Given the description of an element on the screen output the (x, y) to click on. 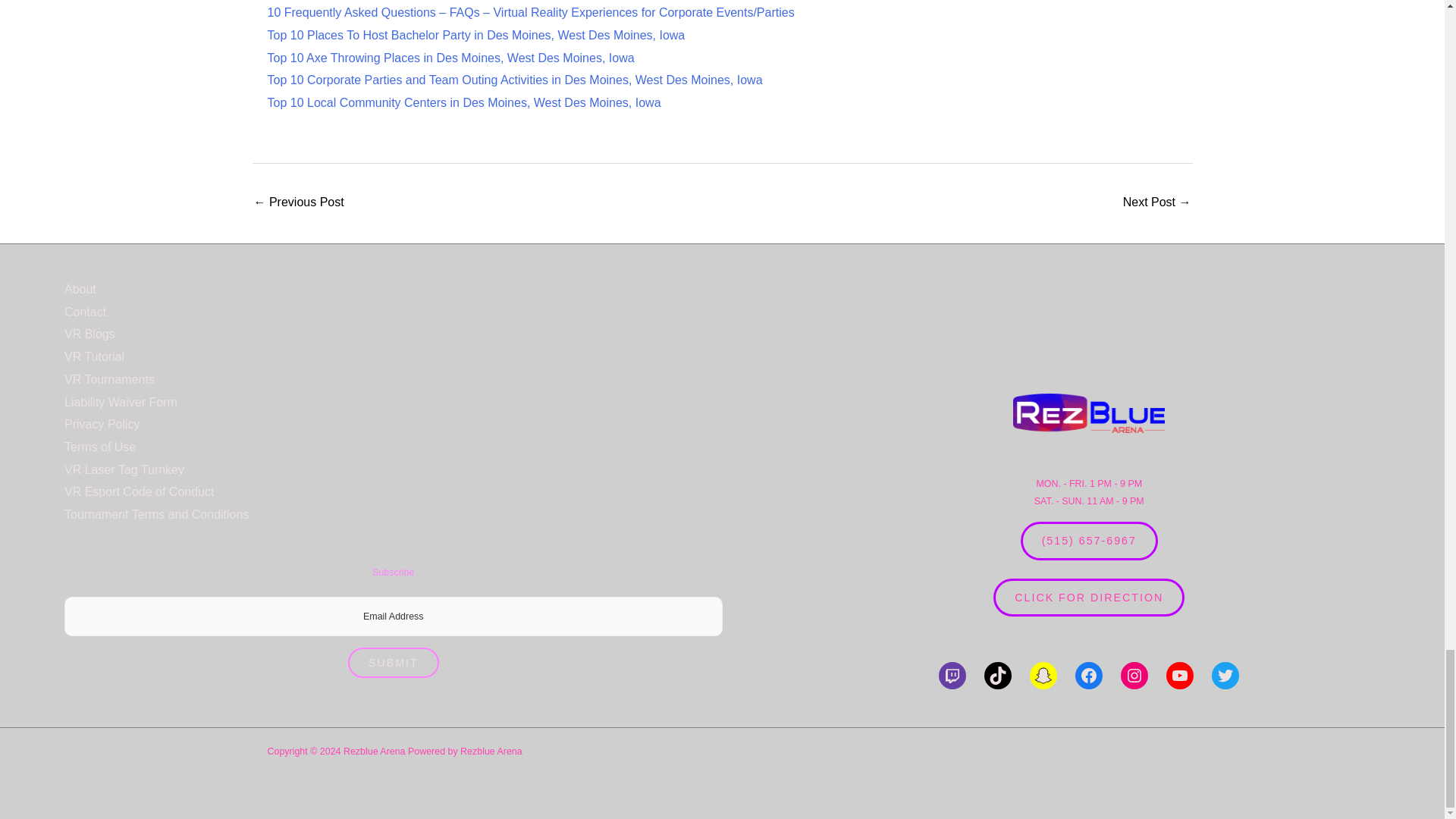
Submit (393, 662)
Top 10 Escape Rooms in Des Moines, West Des Moines, Iowa (1156, 203)
Top 10 Bowling Alleys in Des Moines, West Des Moines, Iowa (298, 203)
